Given the description of an element on the screen output the (x, y) to click on. 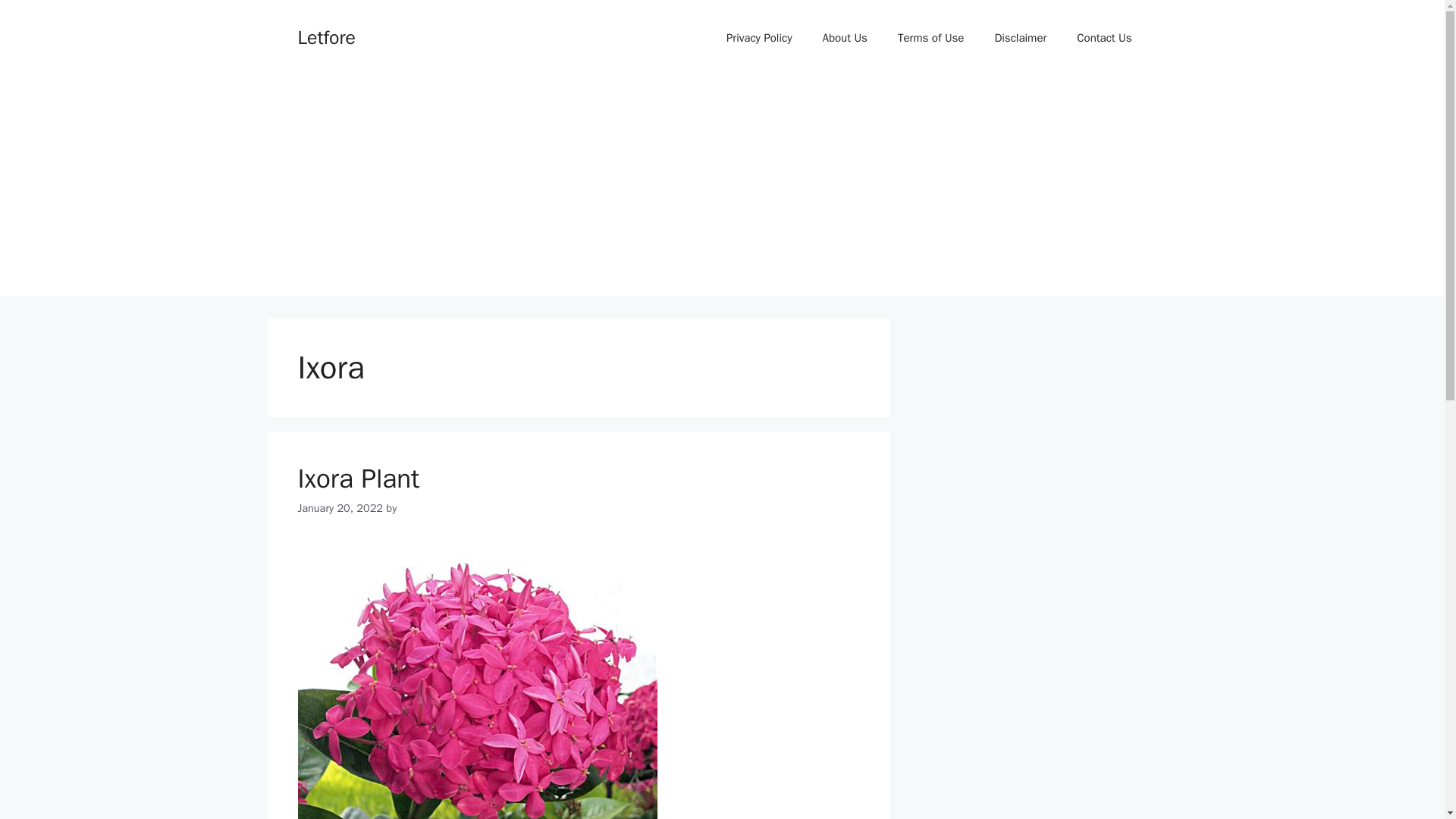
Contact Us (1104, 37)
Letfore (326, 37)
Disclaimer (1019, 37)
Terms of Use (930, 37)
About Us (845, 37)
Ixora Plant (358, 478)
Privacy Policy (759, 37)
